Given the description of an element on the screen output the (x, y) to click on. 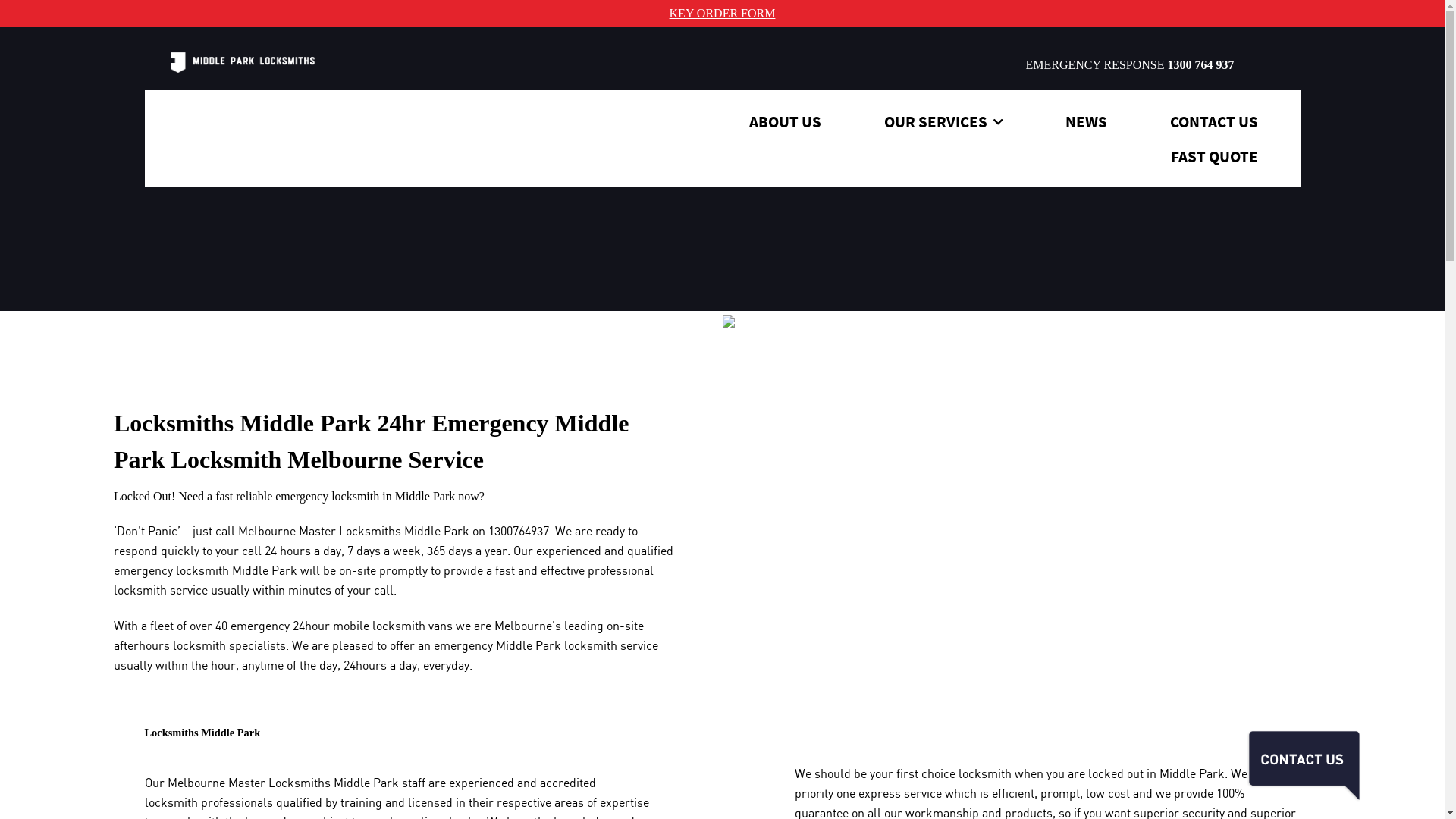
KEY ORDER FORM Element type: text (722, 12)
NEWS Element type: text (1085, 121)
FAST QUOTE Element type: text (1214, 156)
ABOUT US Element type: text (784, 121)
CONTACT US Element type: text (1213, 121)
1300 764 937 Element type: text (1200, 64)
